Given the description of an element on the screen output the (x, y) to click on. 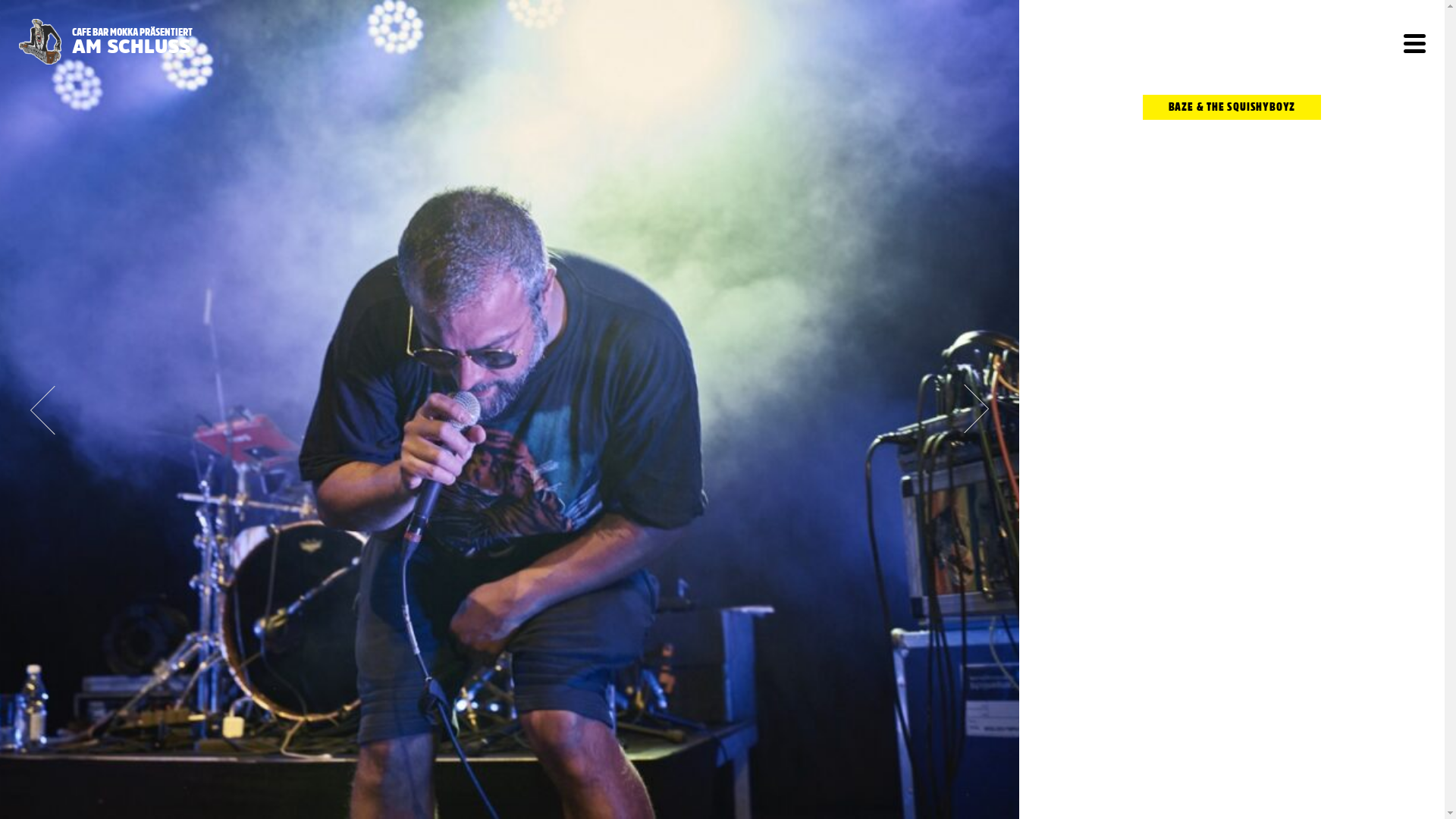
BAZE & THE SQUISHYBOYZ Element type: text (1231, 106)
